Given the description of an element on the screen output the (x, y) to click on. 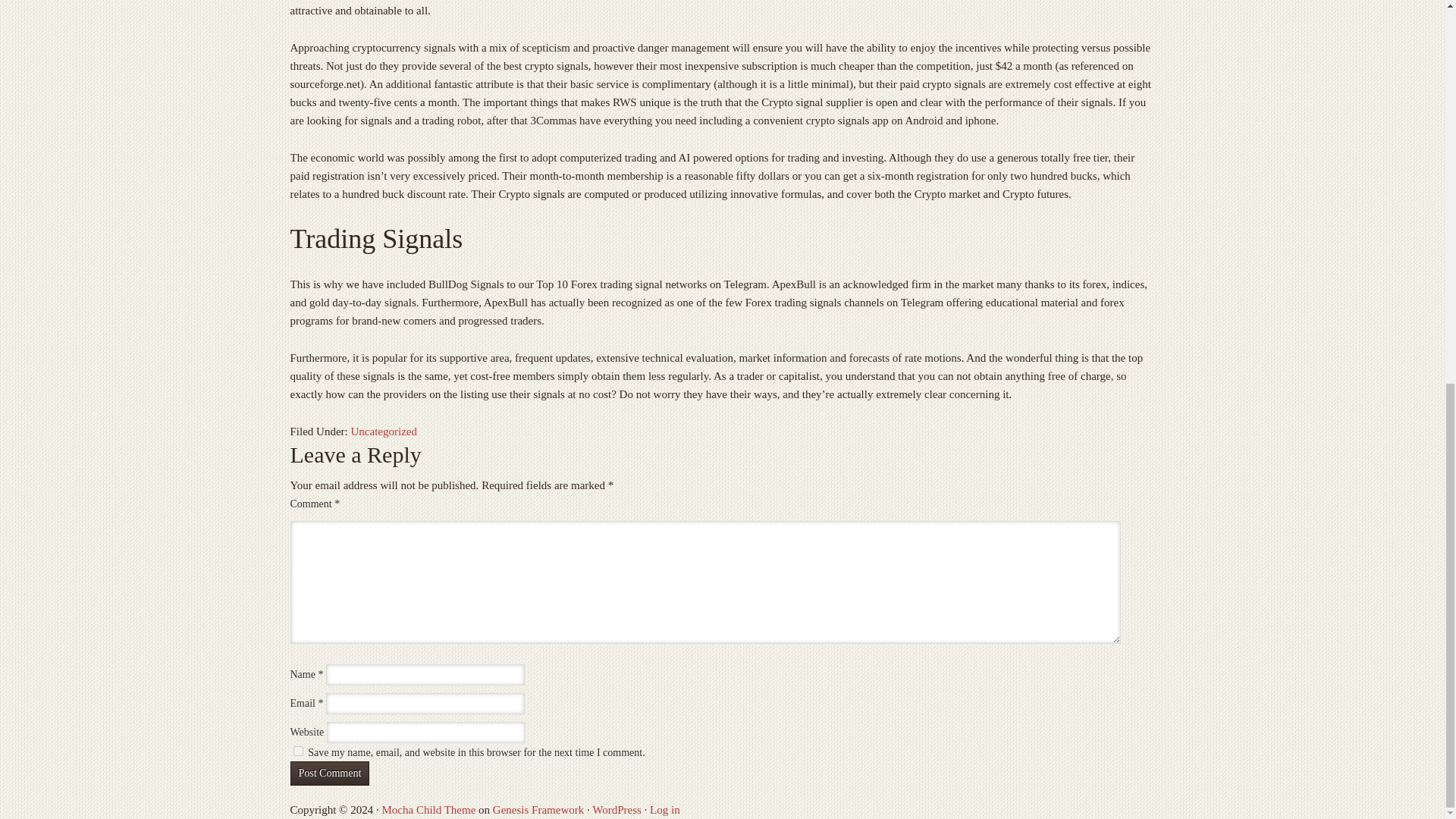
Mocha Child Theme (428, 809)
WordPress (617, 809)
Genesis Framework (538, 809)
Post Comment (329, 773)
yes (297, 750)
Log in (664, 809)
Uncategorized (383, 431)
Post Comment (329, 773)
